Given the description of an element on the screen output the (x, y) to click on. 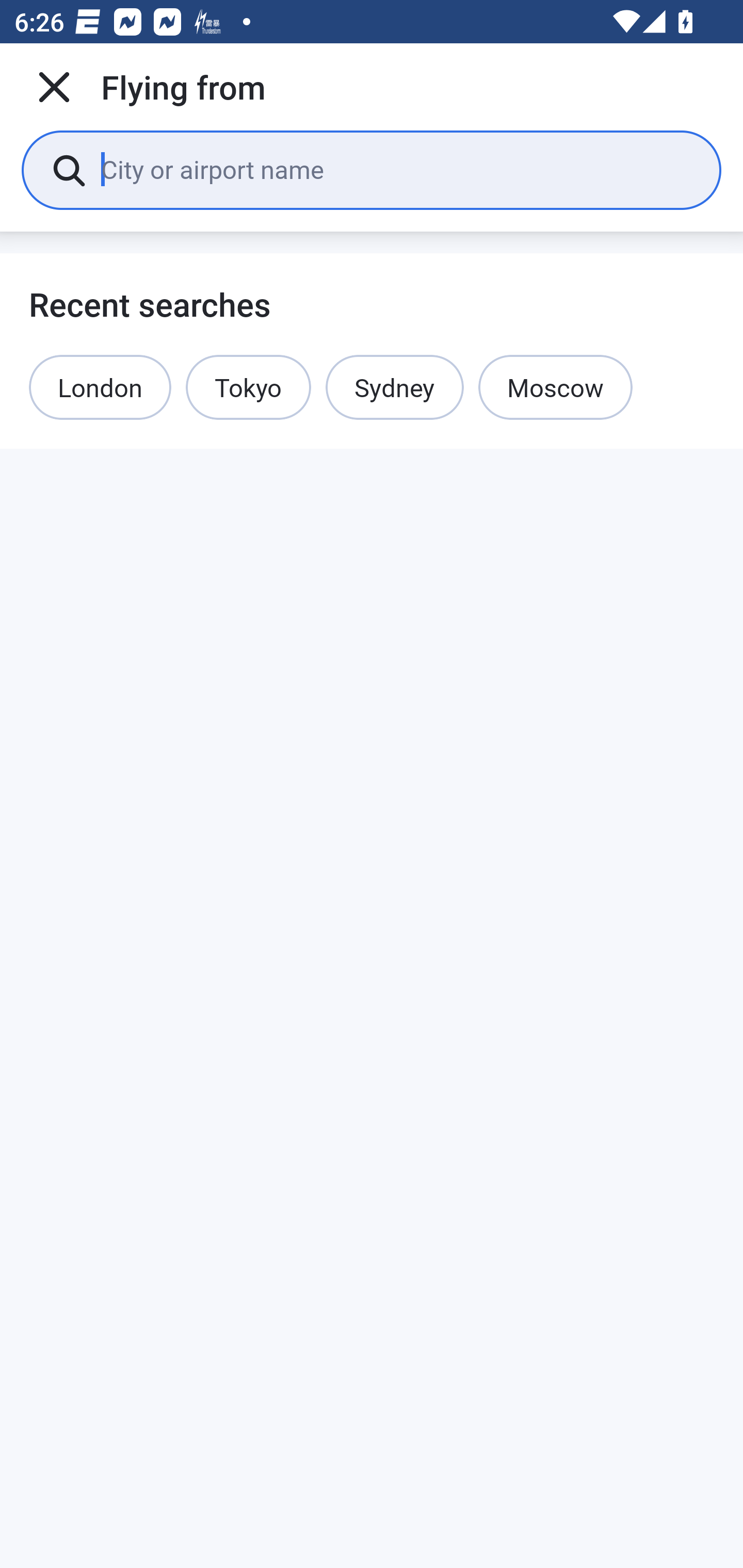
City or airport name (396, 169)
London (99, 387)
Tokyo (248, 387)
Sydney (394, 387)
Moscow (555, 387)
